Given the description of an element on the screen output the (x, y) to click on. 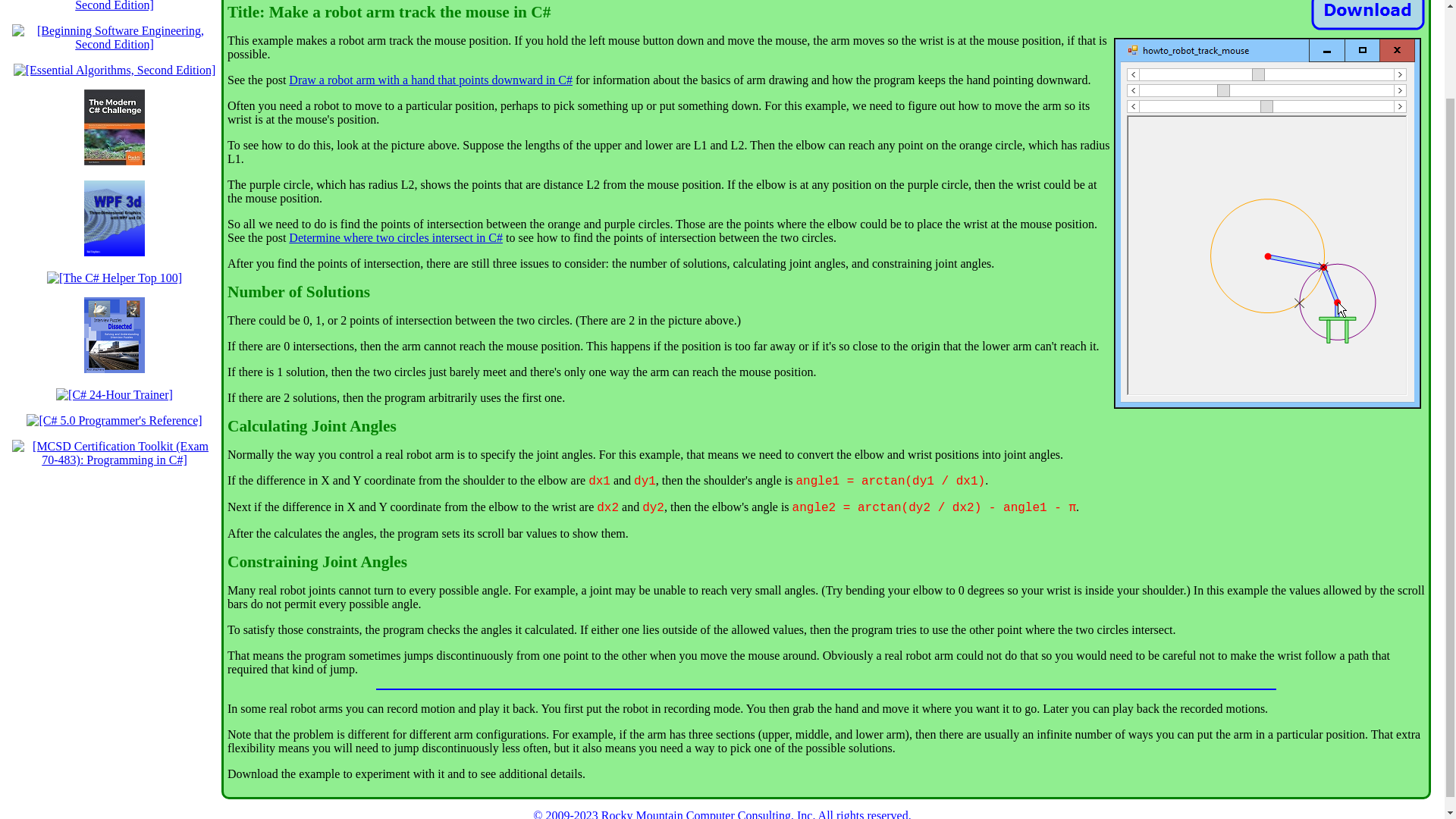
Essential Algorithms (114, 69)
Beginning Software Engineering, Second Edition (113, 43)
Interview Puzzles Dissected (114, 368)
Download example (1368, 15)
Beginning Database Design Solutions, Second Edition (113, 5)
